Given the description of an element on the screen output the (x, y) to click on. 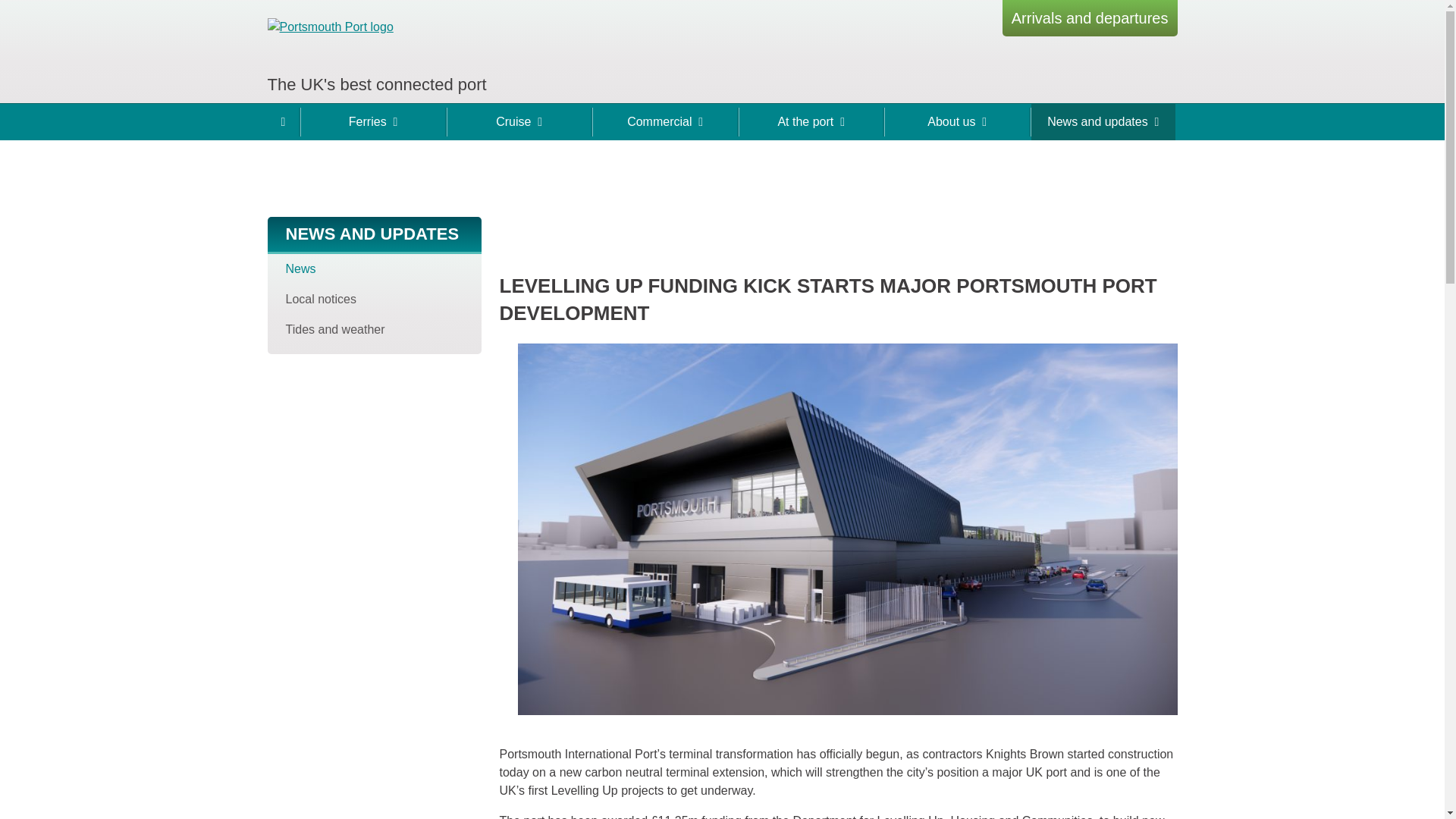
Cruise  (518, 122)
Home (282, 122)
Commercial  (664, 122)
At the port  (811, 122)
Arrivals and departures (1090, 18)
Ferries  (373, 122)
About us  (957, 122)
